Given the description of an element on the screen output the (x, y) to click on. 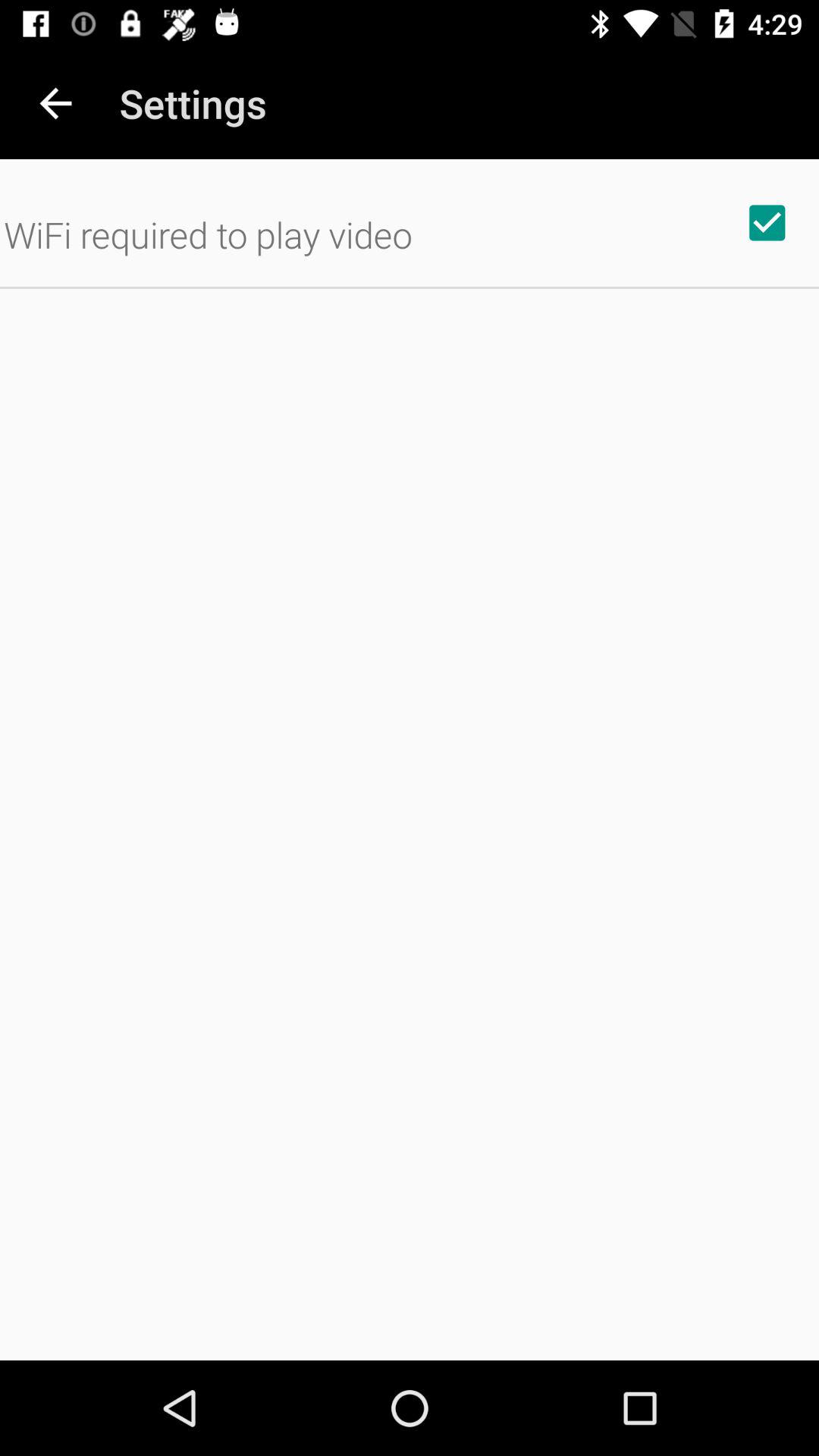
choose the checkbox at the top right corner (767, 222)
